Given the description of an element on the screen output the (x, y) to click on. 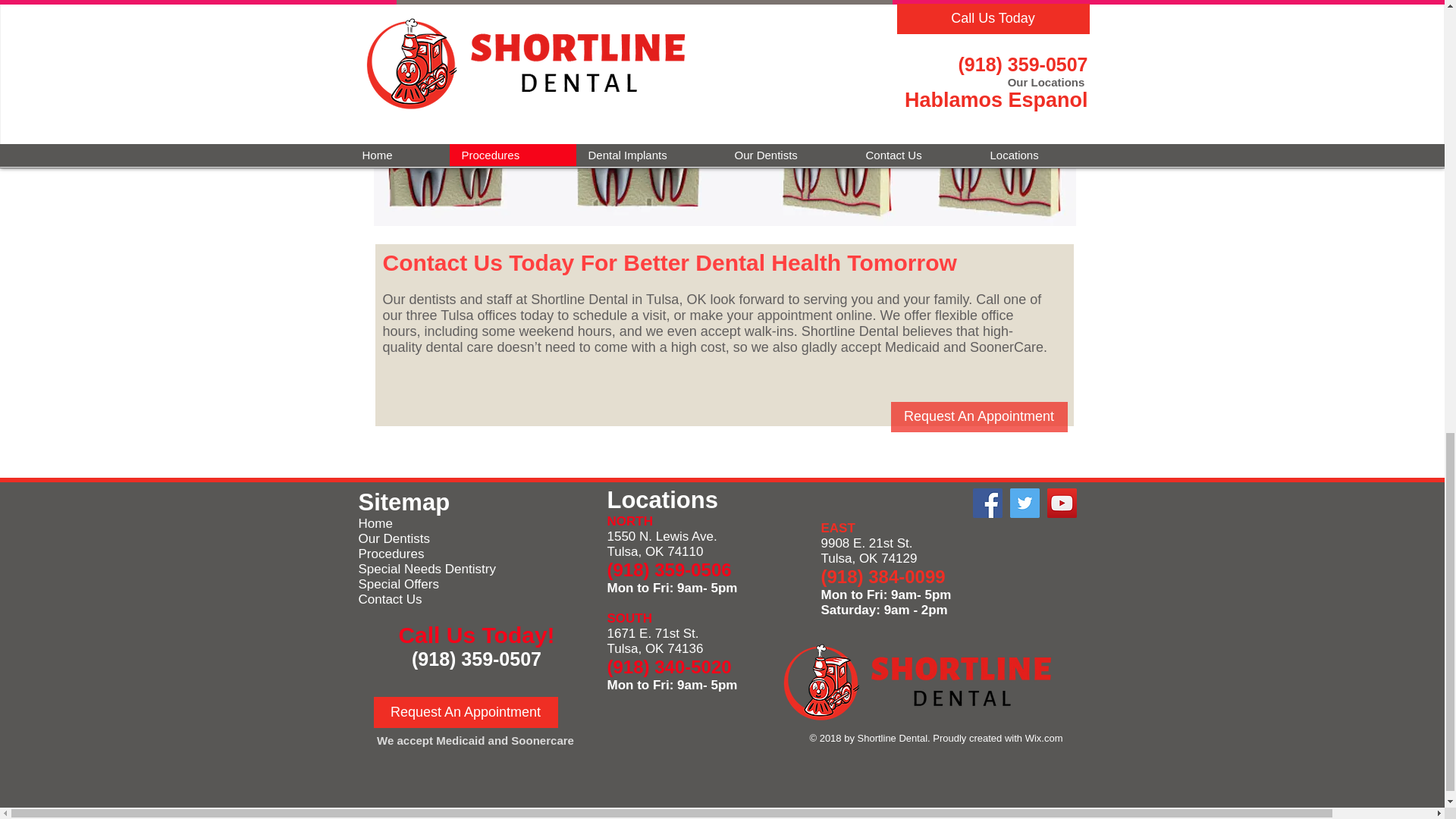
Contact Us (390, 599)
Our Dentists (393, 538)
Special Needs Dentistry (426, 568)
Special Offers (398, 584)
Request An Appointment (978, 417)
Home (374, 523)
Request An Appointment (464, 712)
Procedures (390, 554)
Wix.com (1043, 737)
